Given the description of an element on the screen output the (x, y) to click on. 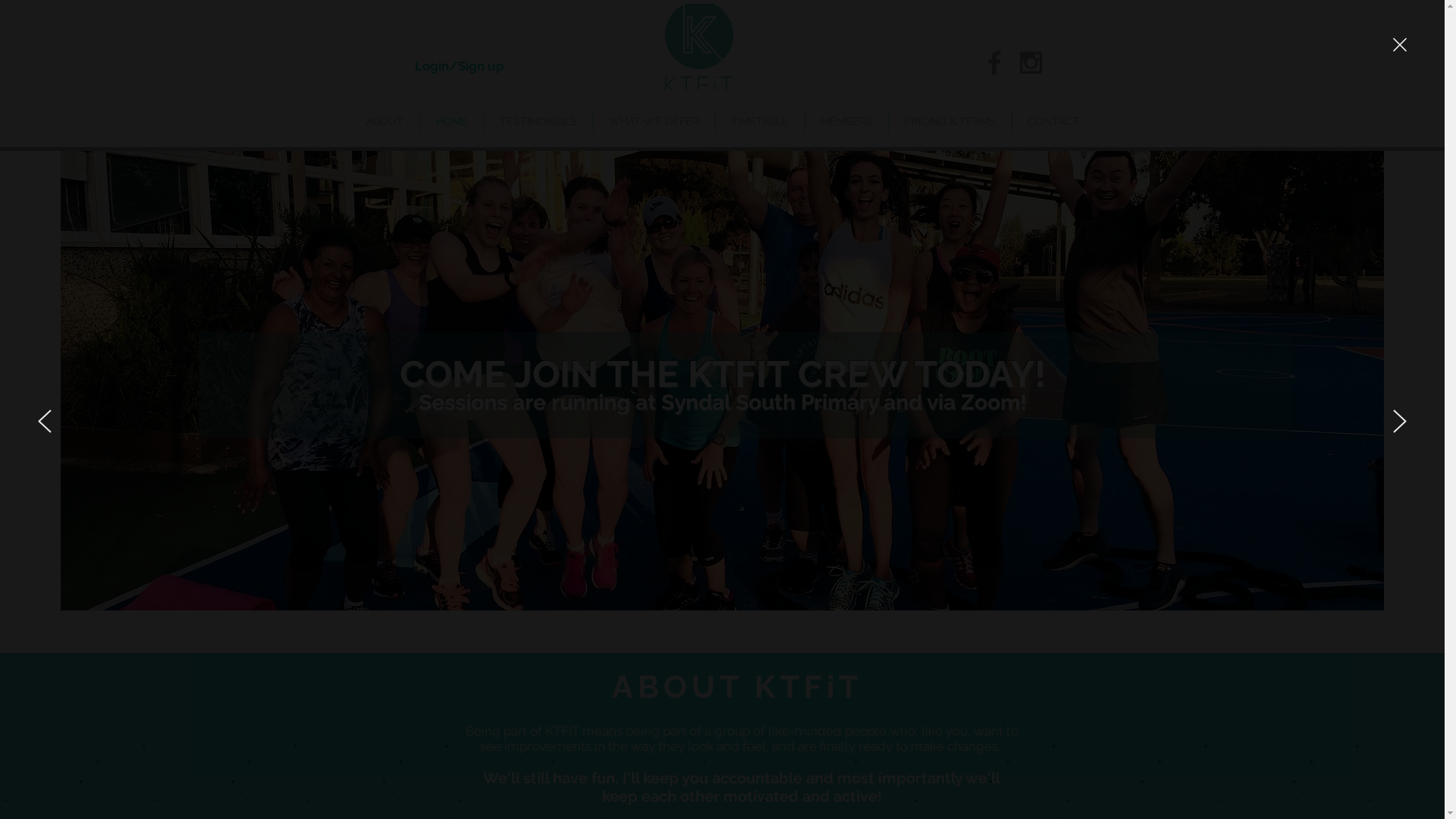
CONTACT Element type: text (1052, 121)
ABOUT Element type: text (384, 121)
Login/Sign up Element type: text (458, 66)
PRICING & TERMS Element type: text (949, 121)
TIMETABLE Element type: text (759, 121)
TESTIMONIALS Element type: text (537, 121)
HOME Element type: text (451, 121)
